Given the description of an element on the screen output the (x, y) to click on. 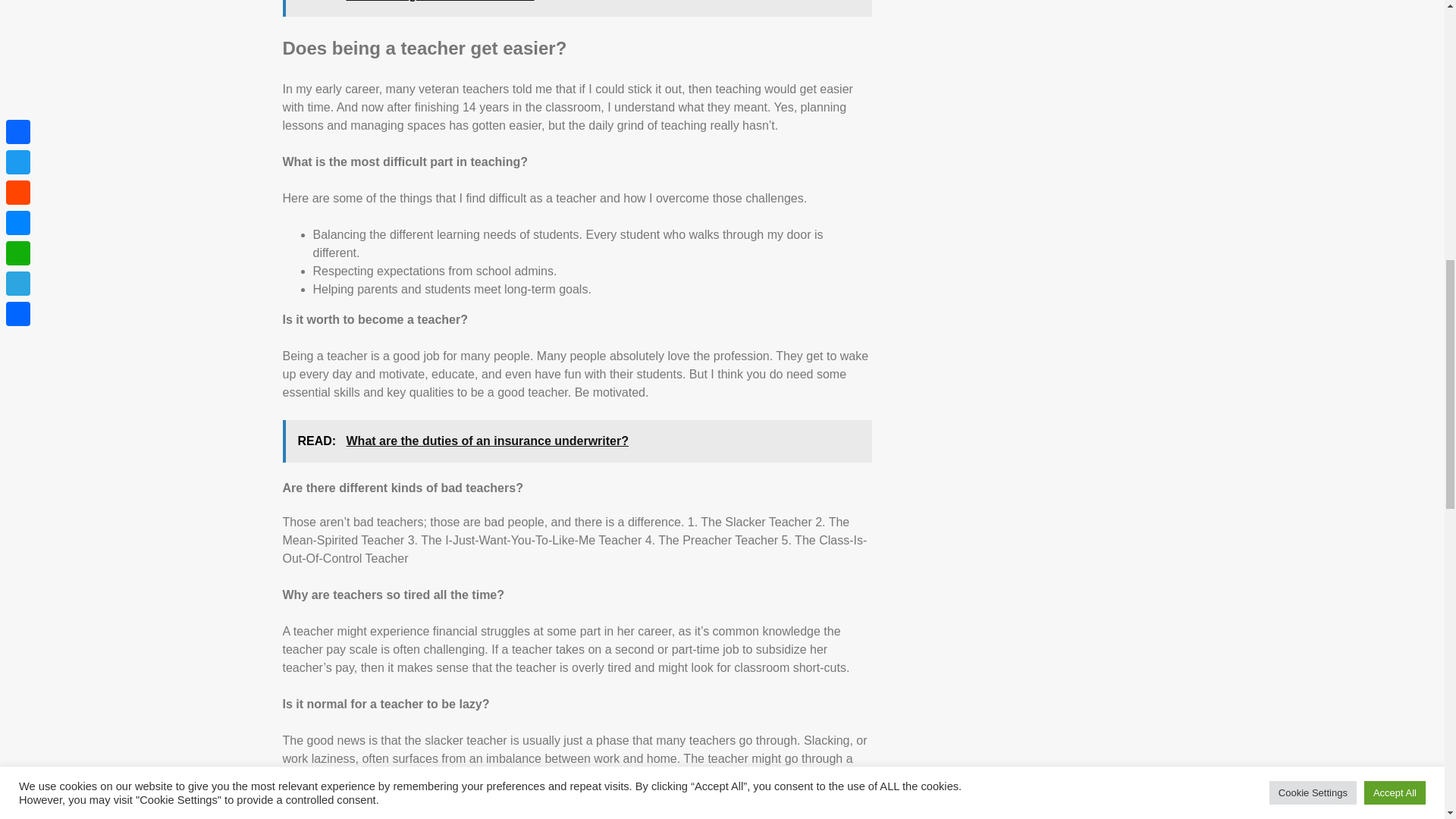
READ:   What are the duties of an insurance underwriter? (576, 441)
READ:   Can a foreigner live in Morocco? (576, 8)
